Given the description of an element on the screen output the (x, y) to click on. 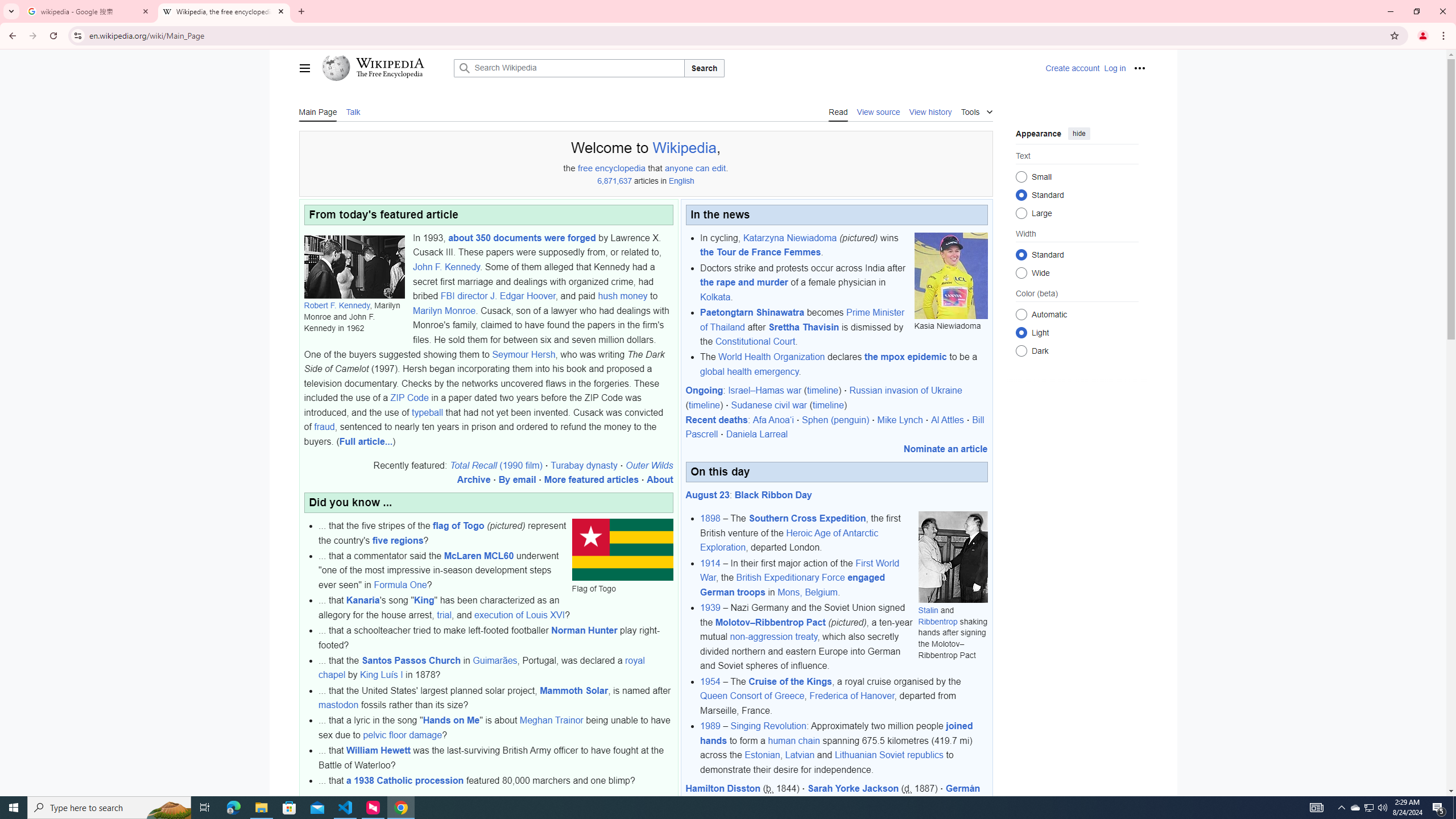
First World War (799, 570)
flag of Togo (458, 525)
Nominate an article (945, 448)
Daniela Larreal (756, 434)
William Hewett (378, 750)
Cruise of the Kings (789, 681)
Norman Hunter (584, 630)
John F. Kennedy (446, 266)
Talk (353, 111)
Russian invasion of Ukraine (905, 390)
King (423, 600)
